Given the description of an element on the screen output the (x, y) to click on. 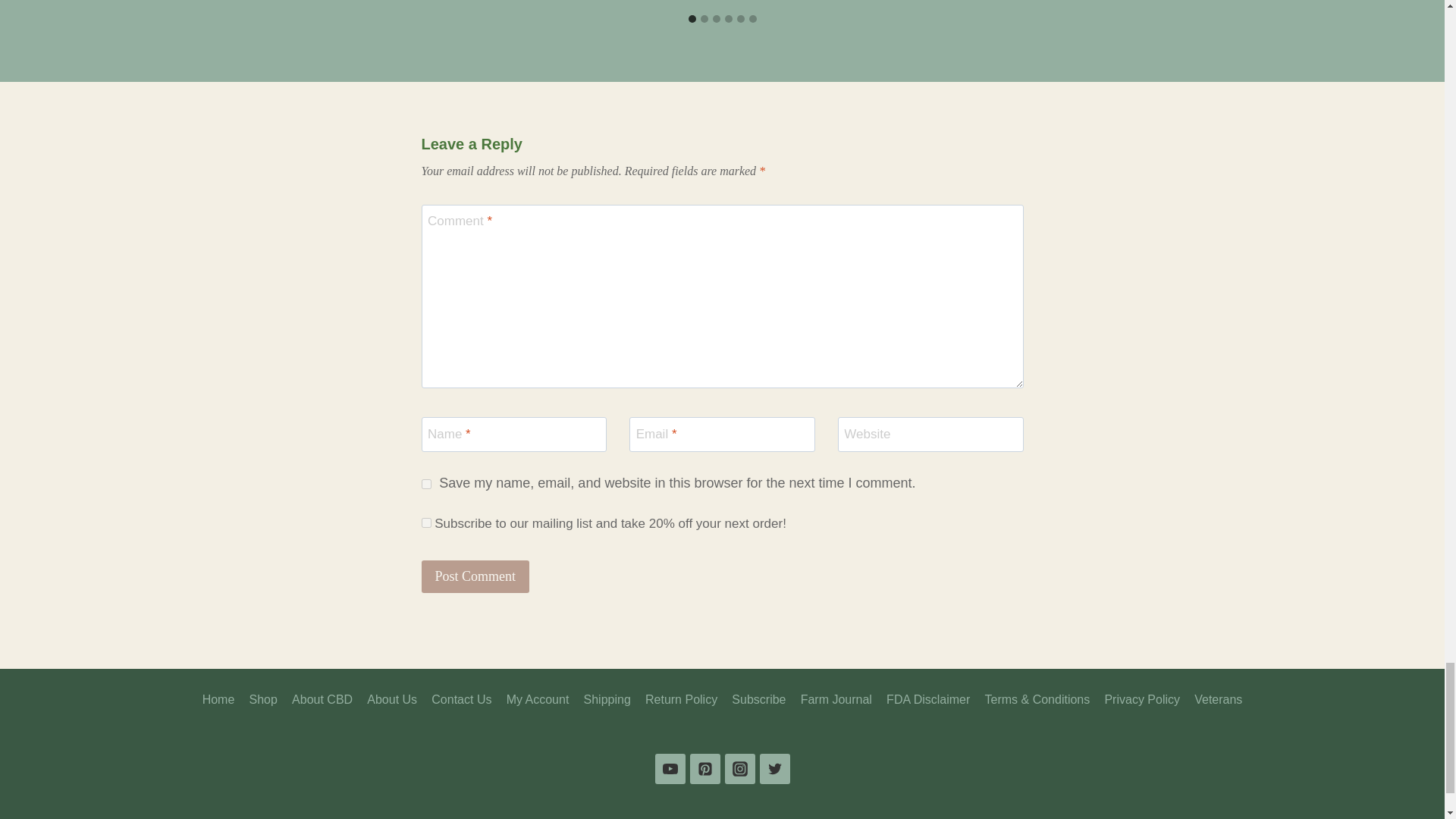
yes (426, 483)
Post Comment (475, 576)
1 (426, 522)
